Given the description of an element on the screen output the (x, y) to click on. 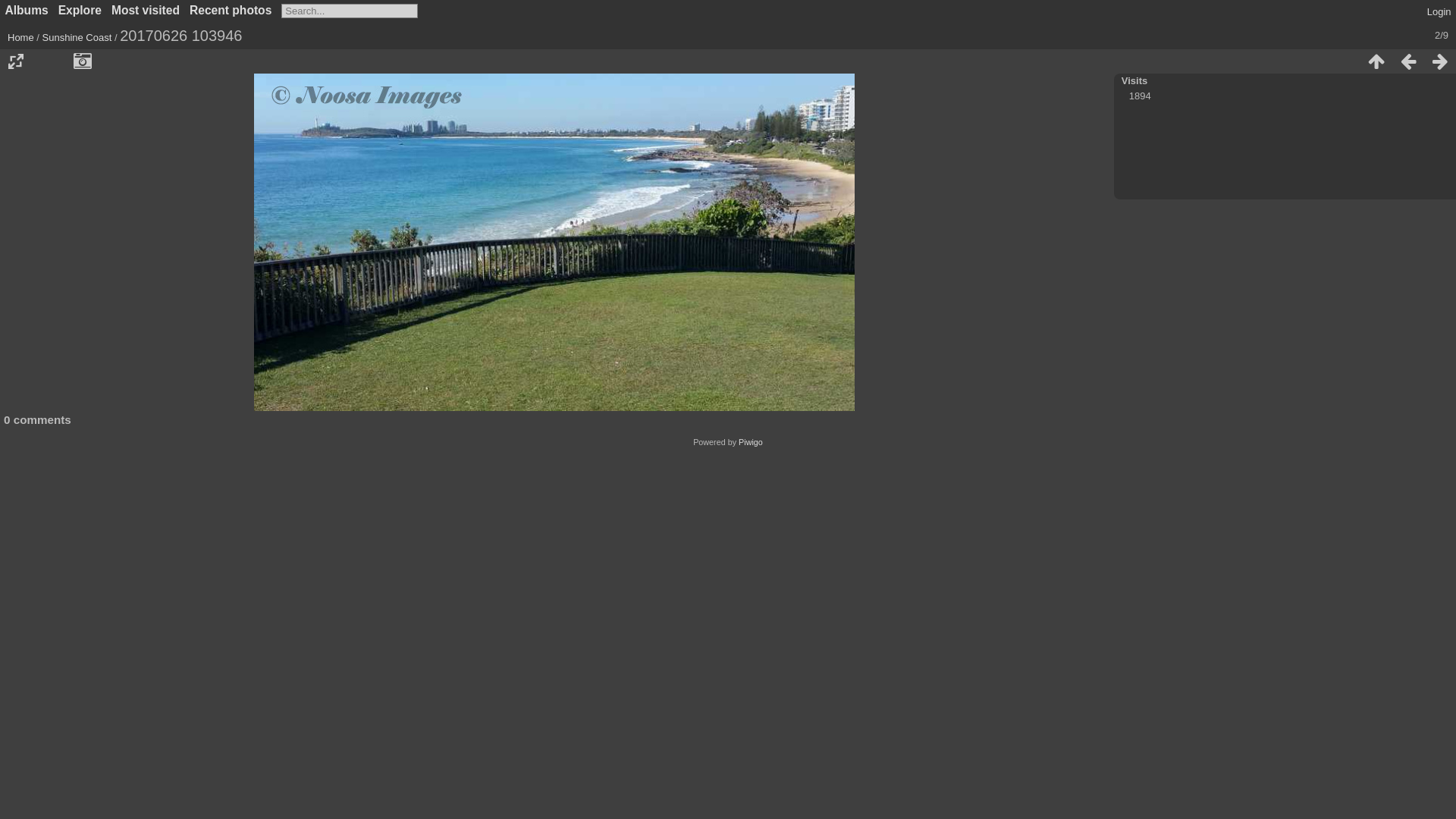
Most visited Element type: text (145, 9)
Sunshine Coast Element type: text (77, 37)
Home Element type: text (20, 37)
Thumbnails Element type: hover (1376, 61)
Explore Element type: text (79, 9)
Albums Element type: text (25, 9)
Show file metadata Element type: hover (82, 61)
Piwigo Element type: text (750, 441)
Previous : 20170626 105525 Element type: hover (1408, 61)
Login Element type: text (1439, 11)
20170626 103946 - 20170626_103946.jpg Element type: hover (554, 242)
Photo sizes Element type: hover (15, 61)
Recent photos Element type: text (230, 9)
slideshow Element type: hover (50, 61)
